Given the description of an element on the screen output the (x, y) to click on. 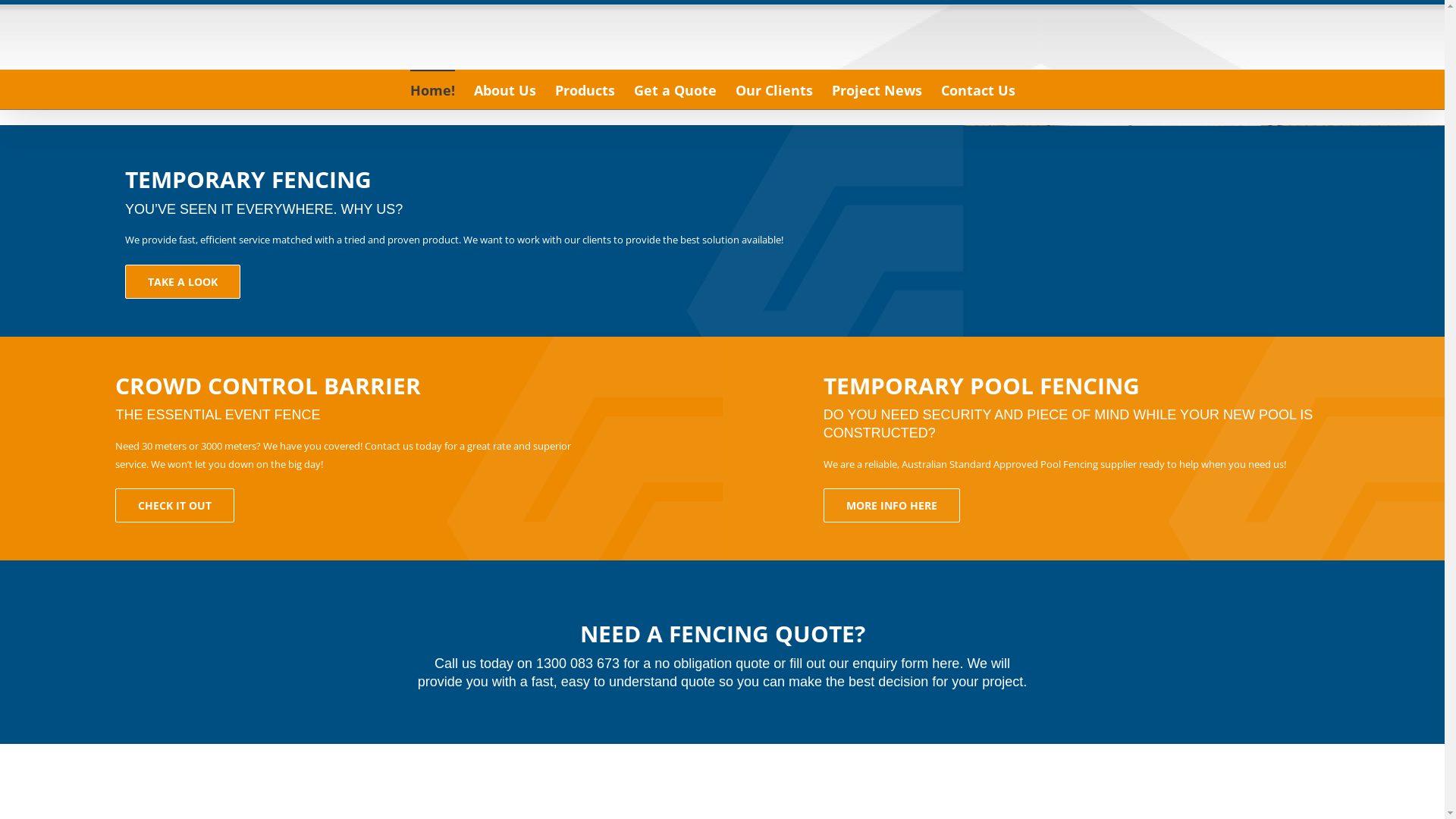
Contact Us Element type: text (978, 89)
CHECK IT OUT Element type: text (174, 505)
About Us Element type: text (504, 89)
Project News Element type: text (876, 89)
Products Element type: text (585, 89)
Get a Quote Element type: text (674, 89)
Our Clients Element type: text (773, 89)
Home! Element type: text (432, 89)
MORE INFO HERE Element type: text (891, 505)
TAKE A LOOK Element type: text (182, 281)
